Given the description of an element on the screen output the (x, y) to click on. 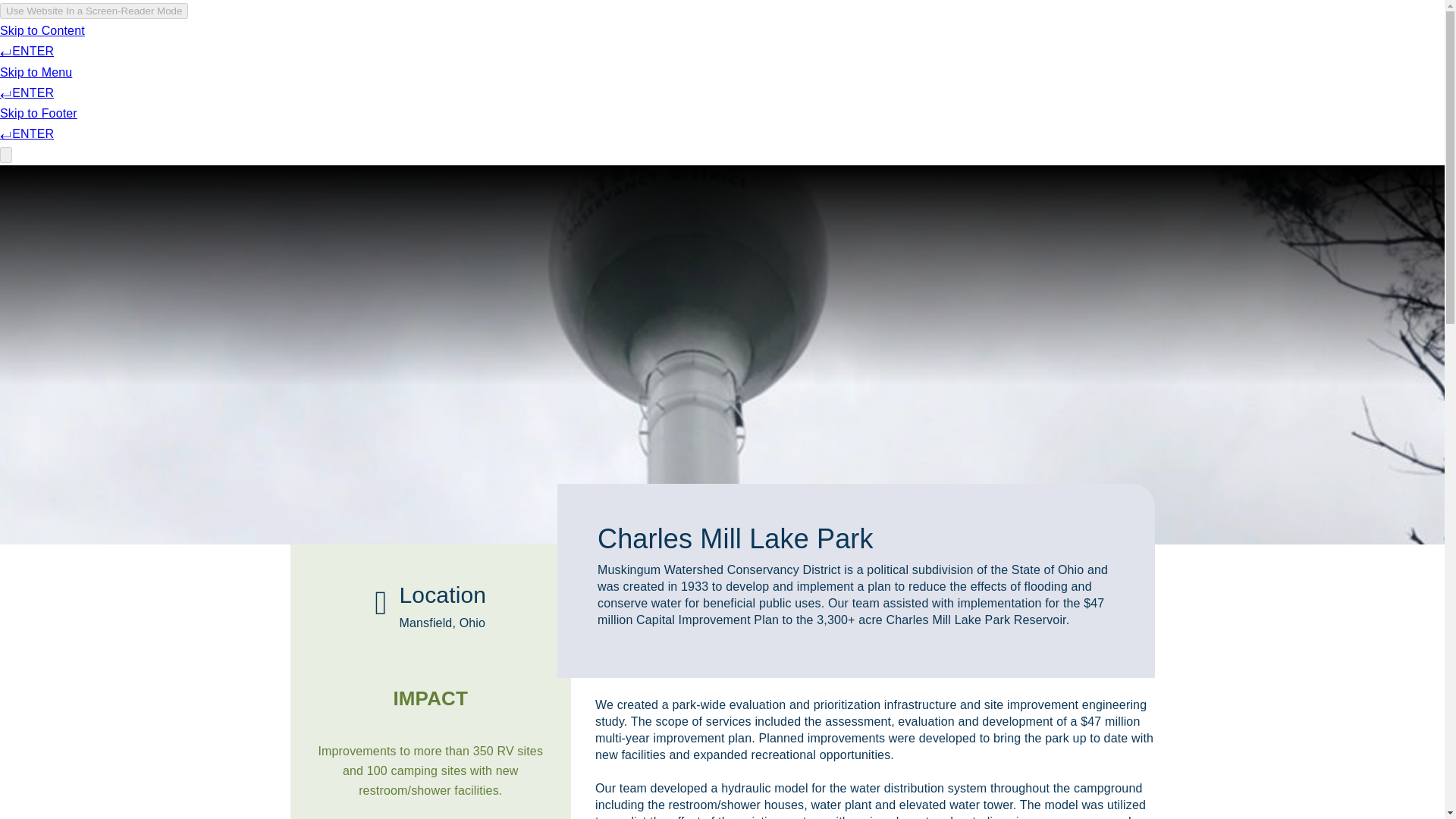
ABOUT (605, 42)
INSIGHTS (829, 42)
CAREERS (903, 42)
SERVICES (672, 42)
CONTACT US (987, 42)
PROJECTS (752, 42)
